Given the description of an element on the screen output the (x, y) to click on. 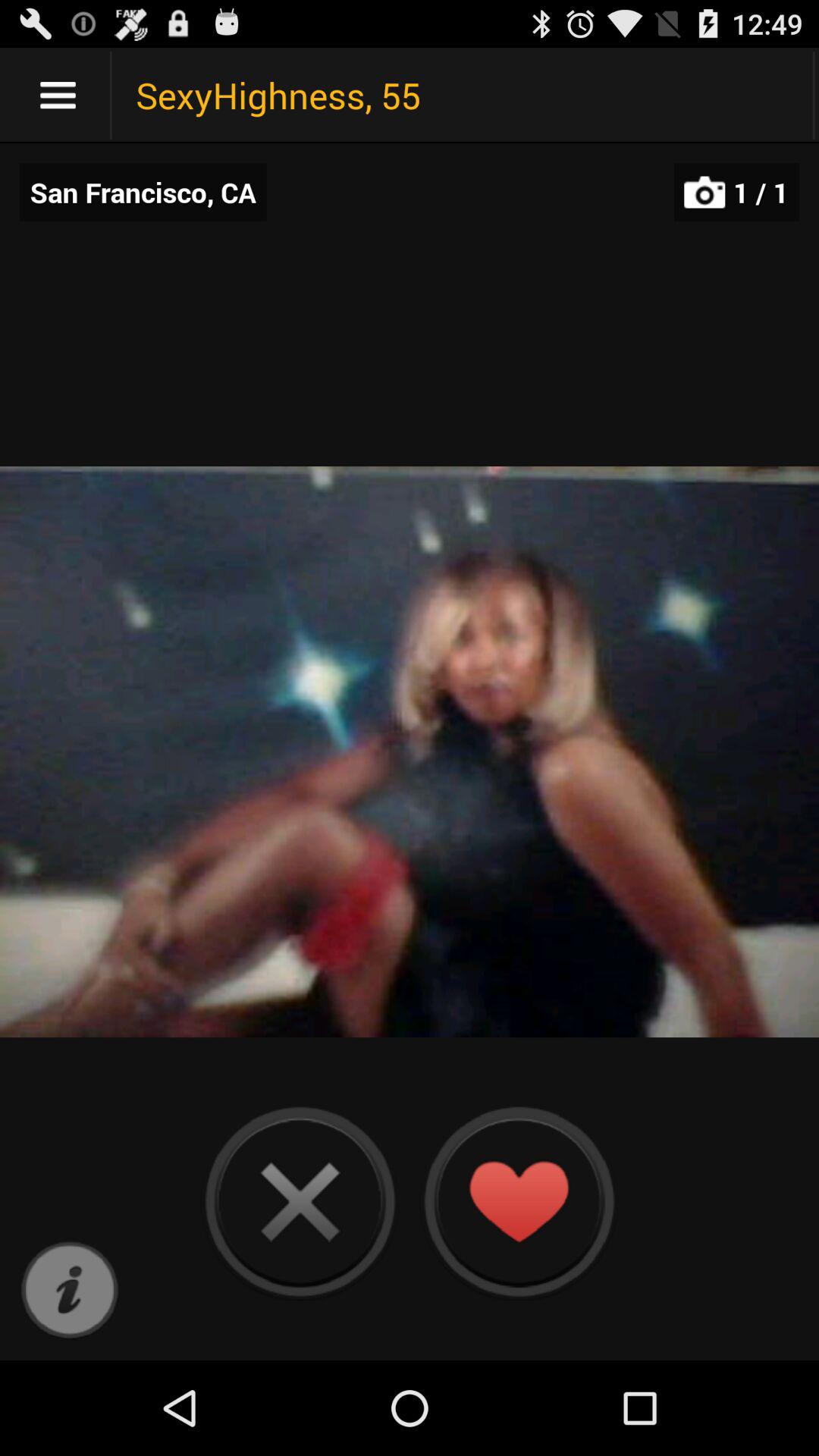
select the icon at the bottom left corner (69, 1290)
